Given the description of an element on the screen output the (x, y) to click on. 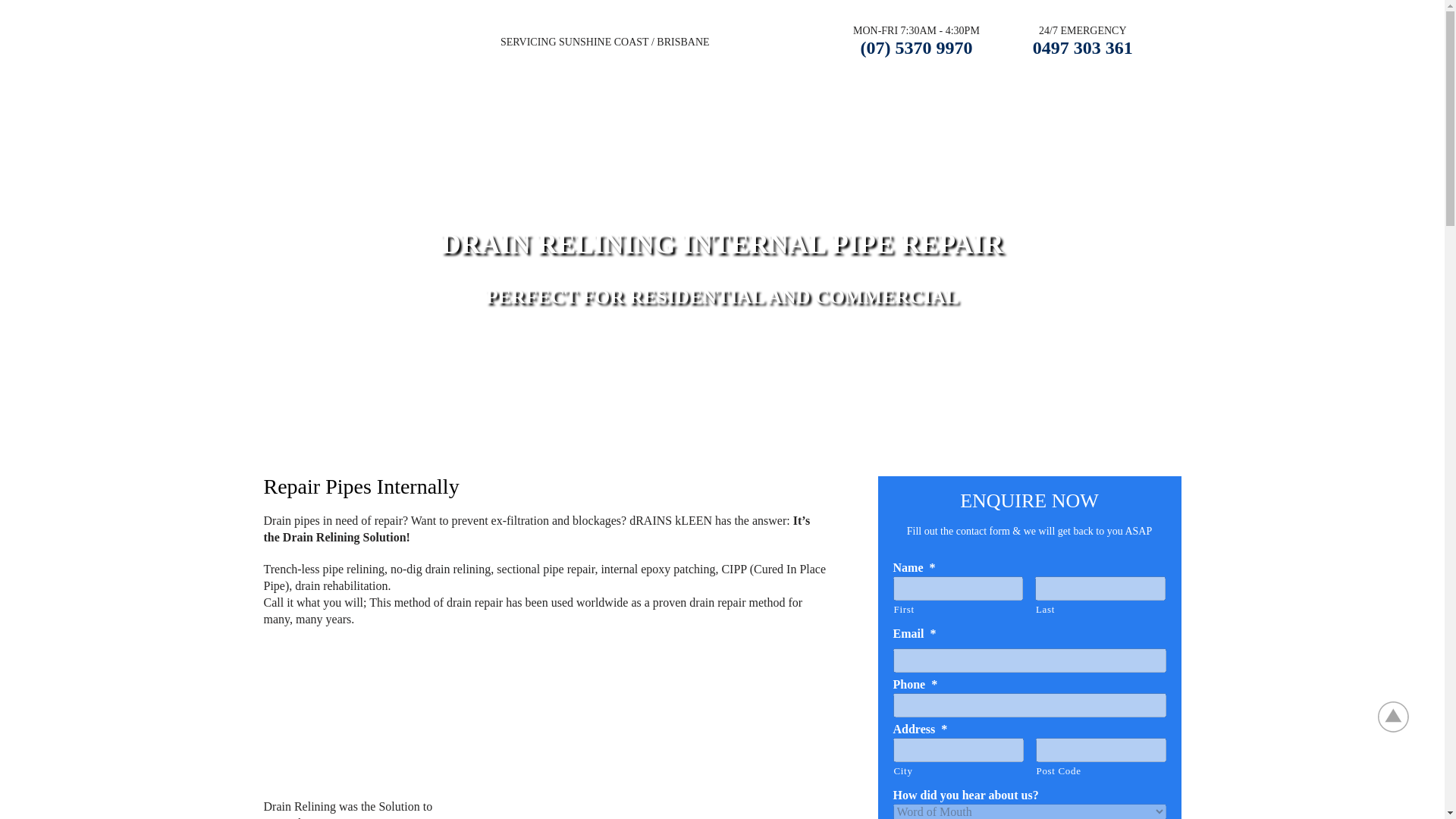
0497 303 361 (1082, 47)
Top of Page (1401, 716)
